Given the description of an element on the screen output the (x, y) to click on. 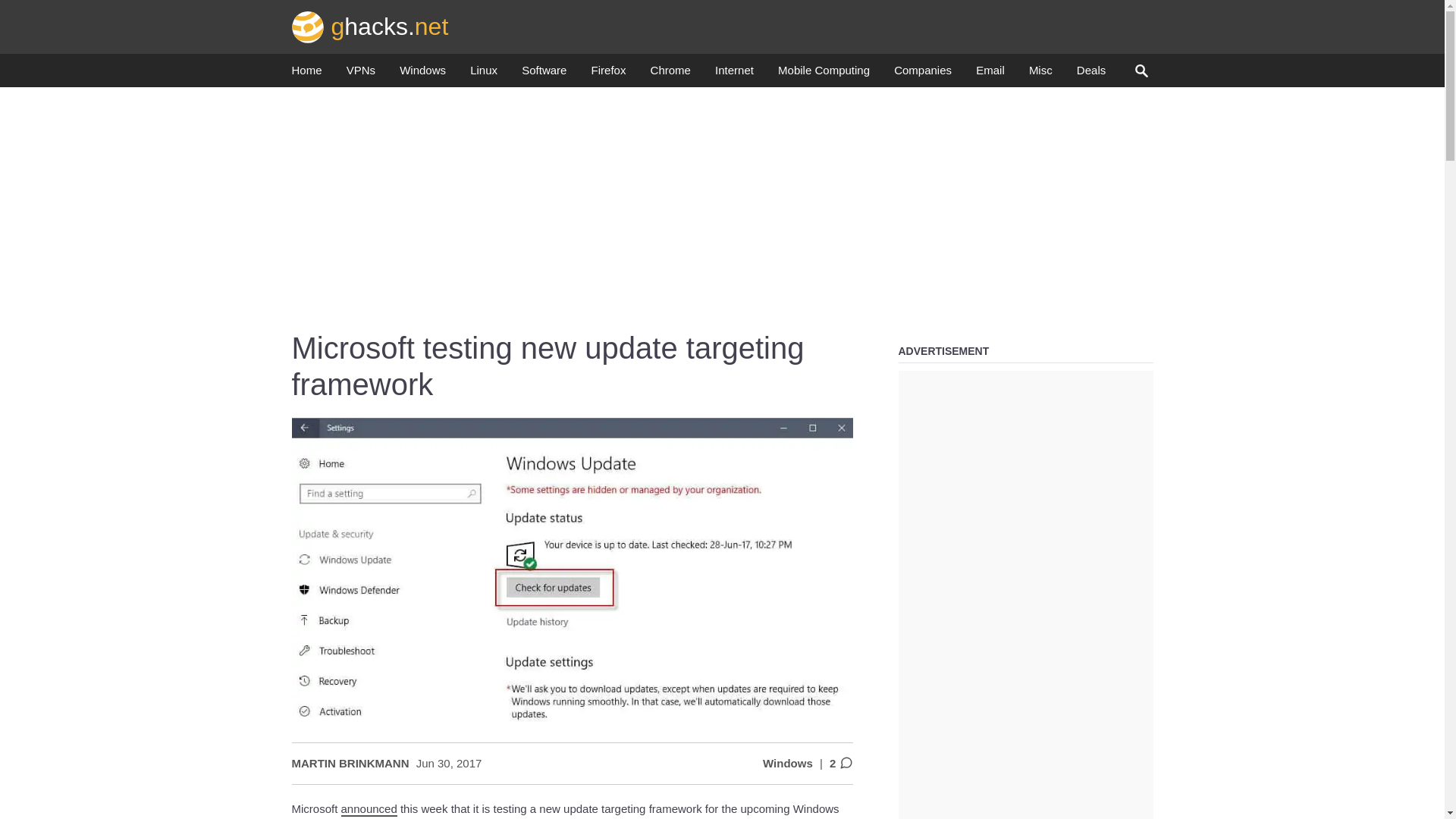
Misc (1040, 73)
Internet (734, 73)
Companies (922, 73)
Email (989, 73)
Software (543, 73)
ghacks.net (369, 26)
Windows (421, 73)
Chrome (670, 73)
Home (306, 73)
Firefox (608, 73)
Linux (483, 73)
Mobile Computing (823, 73)
VPNs (360, 73)
Deals (1091, 73)
